Given the description of an element on the screen output the (x, y) to click on. 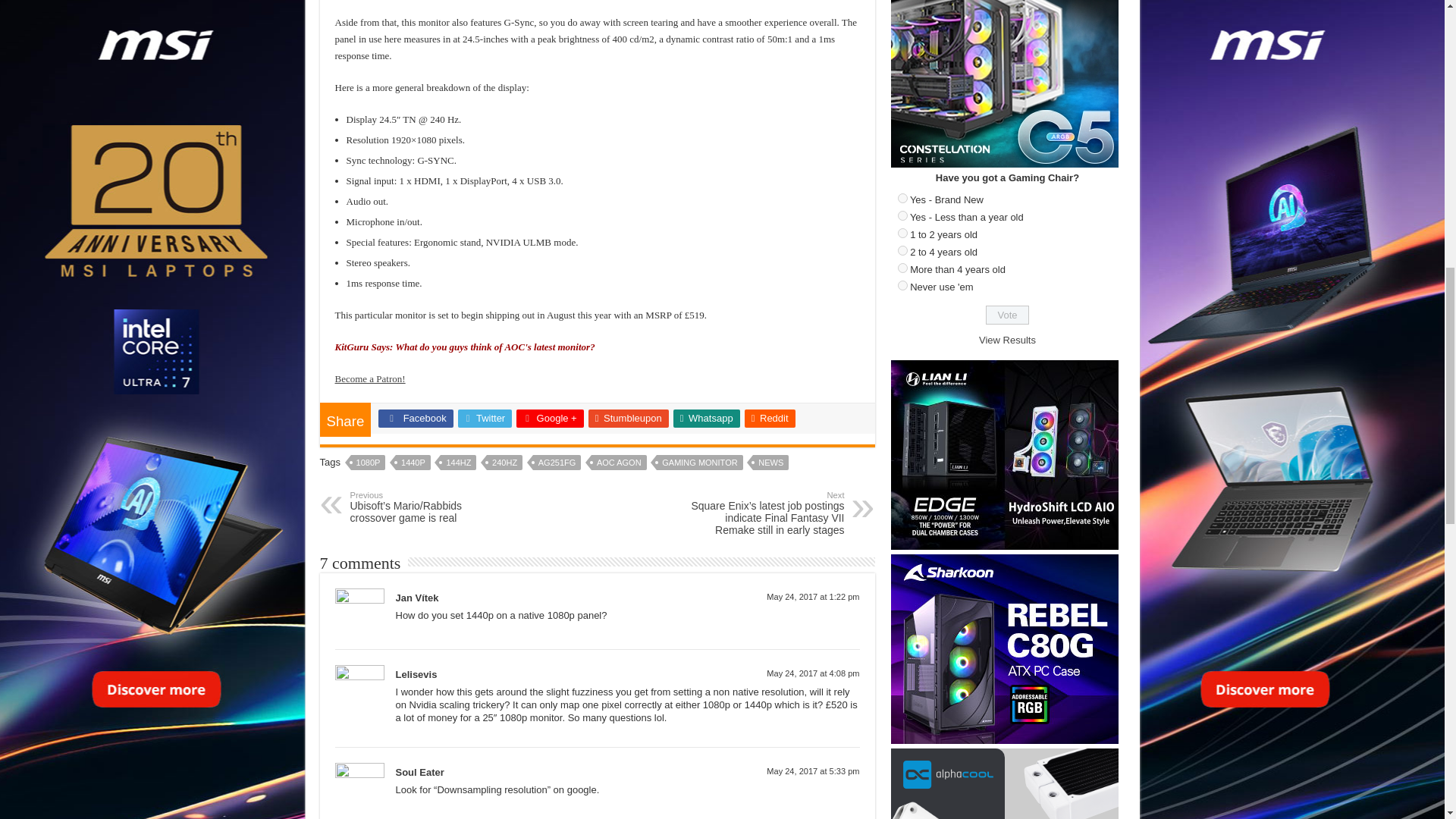
1373 (902, 198)
View Results Of This Poll (1006, 339)
1375 (902, 233)
   Vote    (1007, 314)
1374 (902, 215)
Twitter (485, 418)
Facebook (415, 418)
Become a Patron! (370, 378)
1377 (902, 267)
1378 (902, 285)
